Given the description of an element on the screen output the (x, y) to click on. 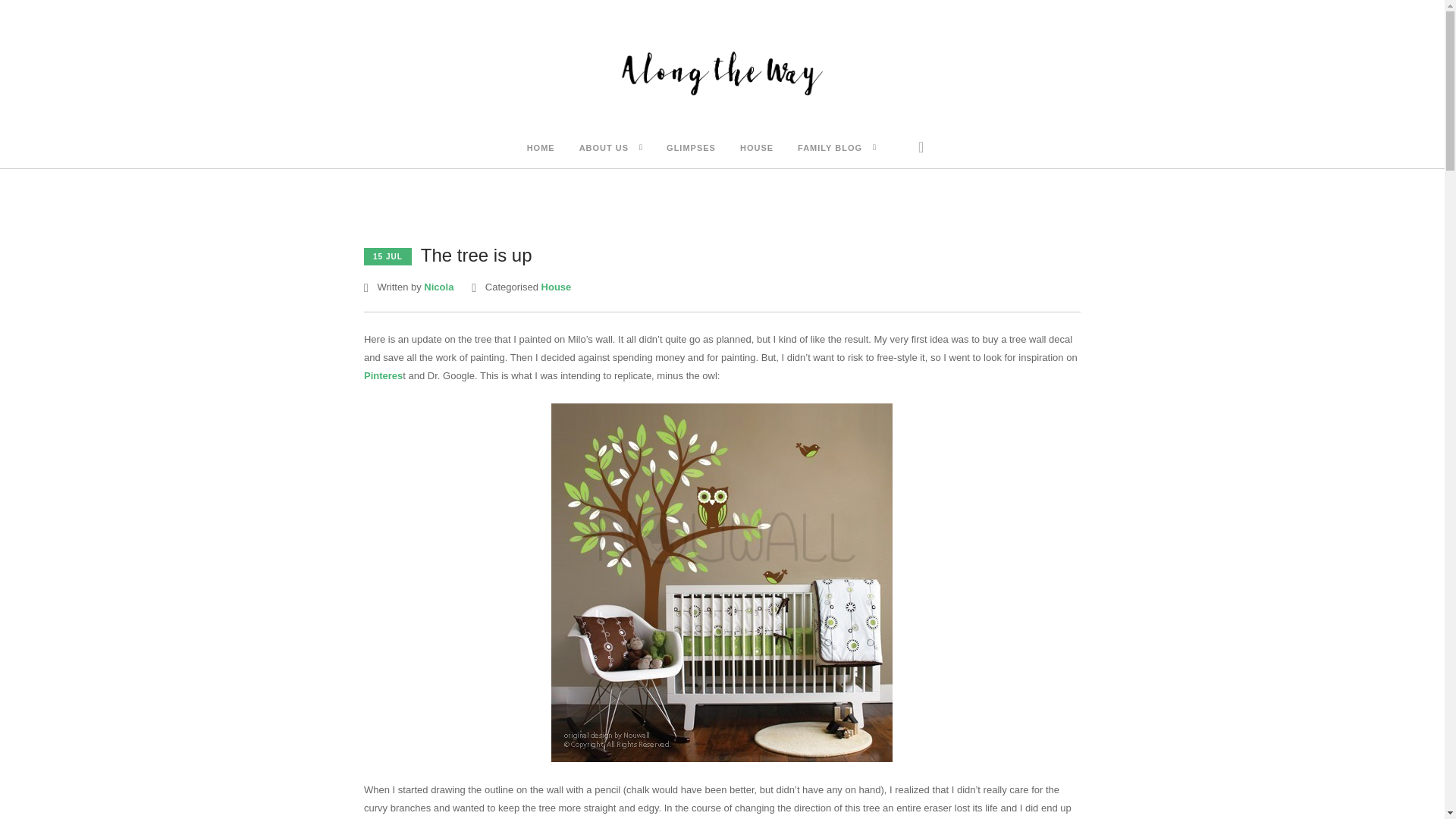
Posts by Nicola (437, 286)
Nicola (437, 286)
Pinterest (383, 375)
ABOUT US (603, 148)
FAMILY BLOG (829, 148)
GLIMPSES (691, 148)
Pinteres (383, 375)
House (556, 286)
15 JULThe tree is up (448, 256)
